Given the description of an element on the screen output the (x, y) to click on. 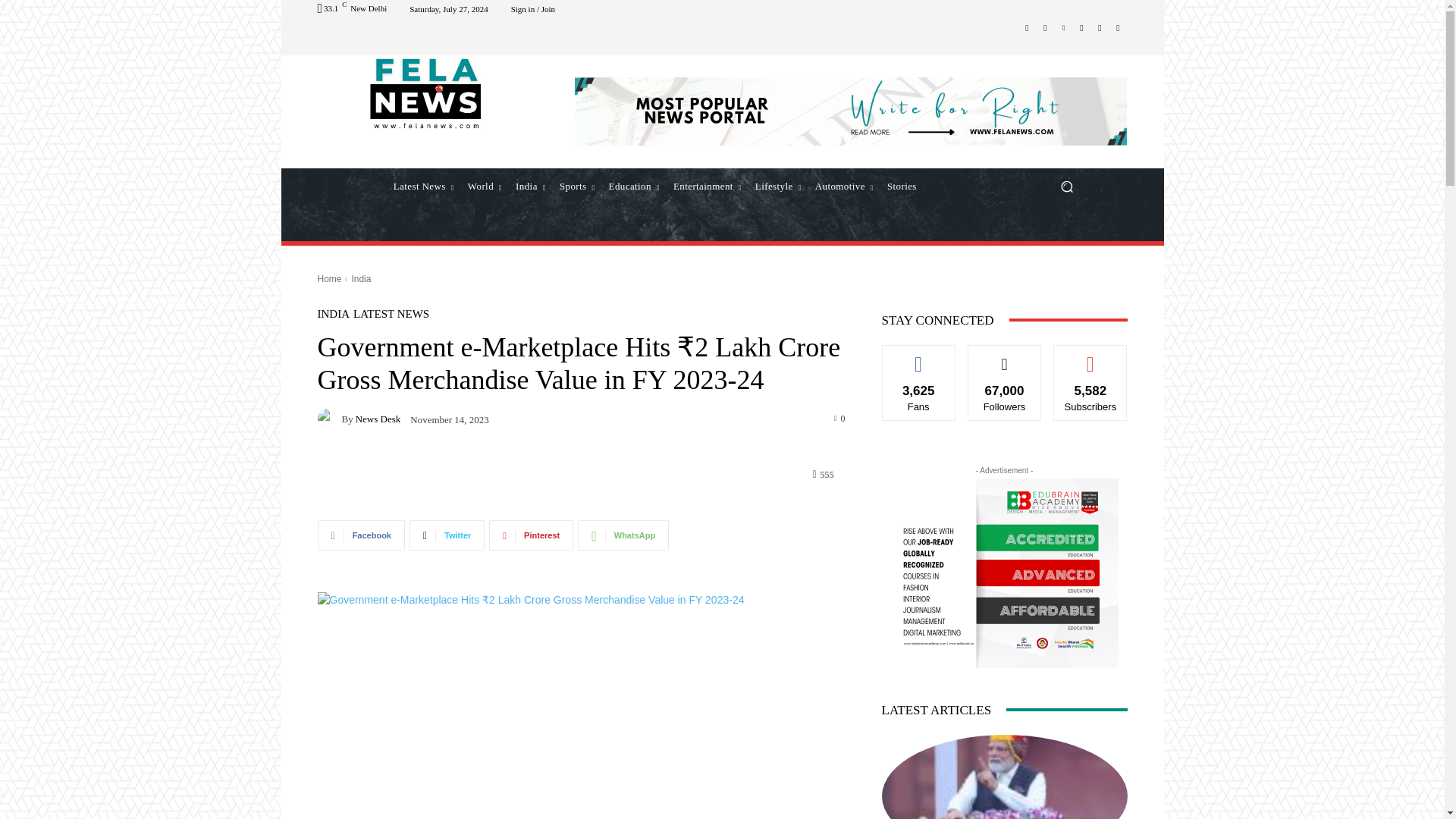
Linkedin (1062, 27)
Latest News (424, 186)
Instagram (1044, 27)
Reddit (1080, 27)
Twitter (1117, 27)
RSS (1099, 27)
Facebook (1026, 27)
